Given the description of an element on the screen output the (x, y) to click on. 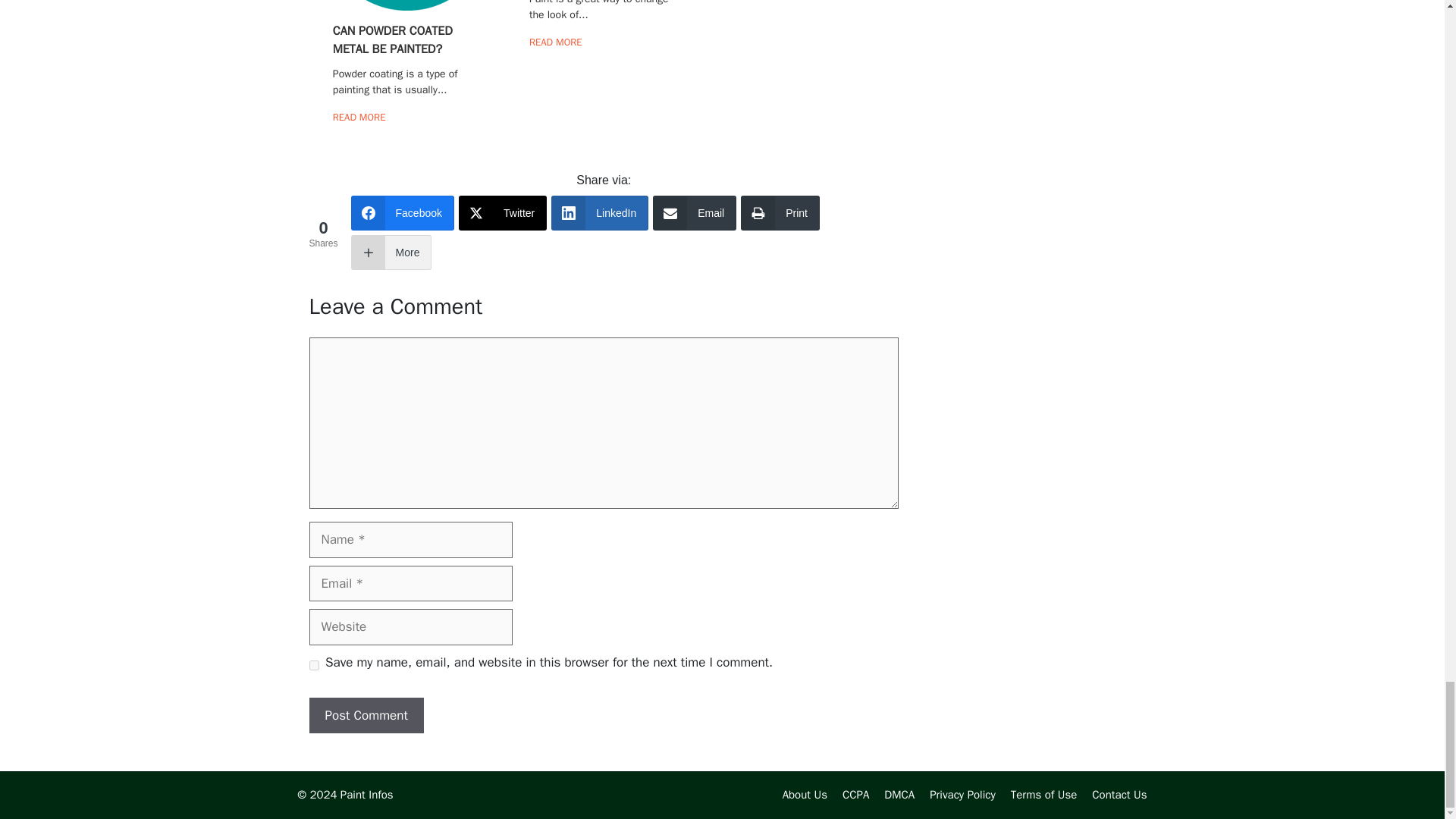
Post Comment (365, 715)
yes (313, 665)
READ MORE (555, 42)
Email (694, 212)
More (391, 252)
Twitter (502, 212)
CAN POWDER COATED METAL BE PAINTED? (392, 39)
Facebook (402, 212)
Print (780, 212)
LinkedIn (599, 212)
